Given the description of an element on the screen output the (x, y) to click on. 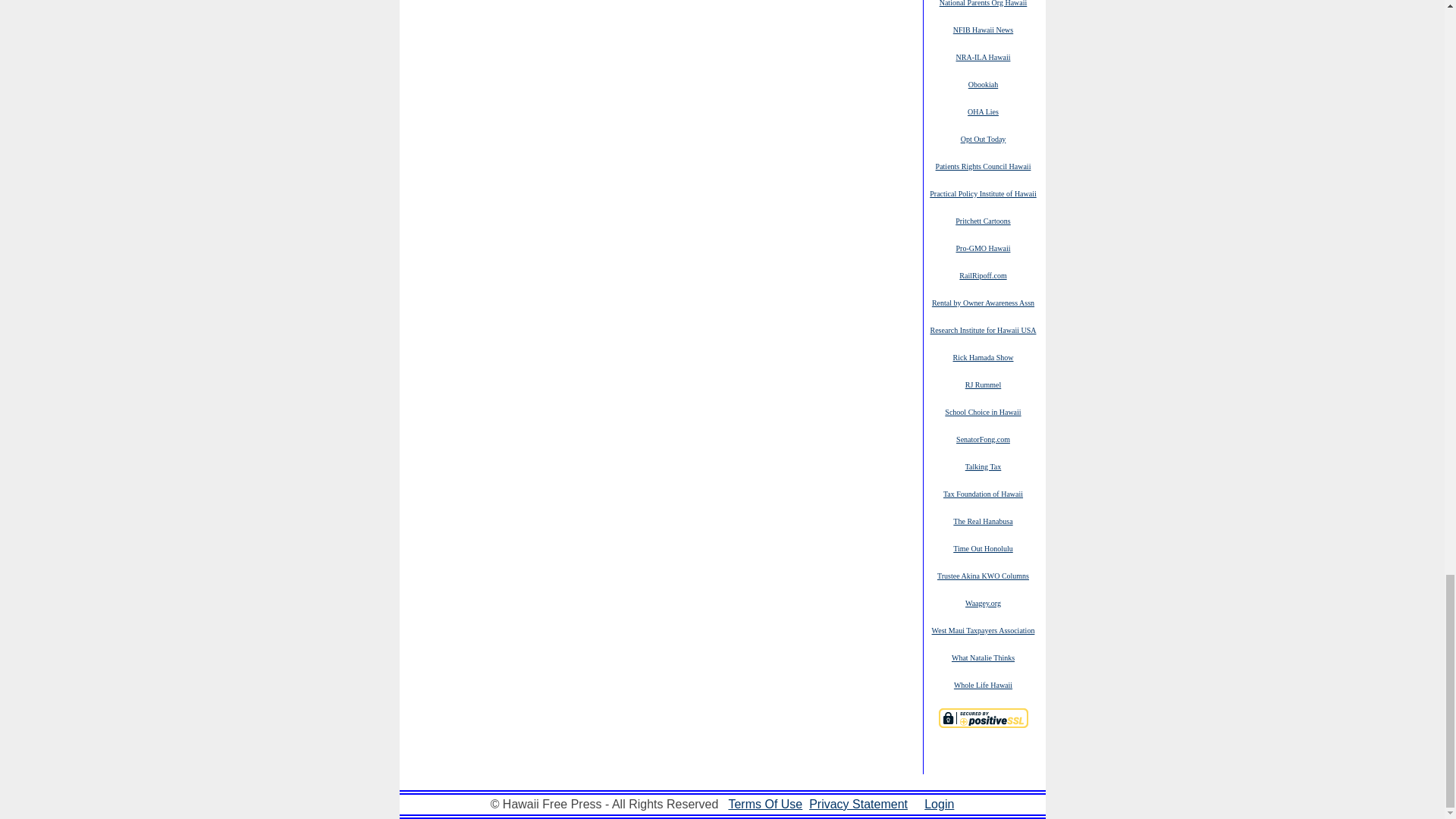
Login (938, 803)
